Given the description of an element on the screen output the (x, y) to click on. 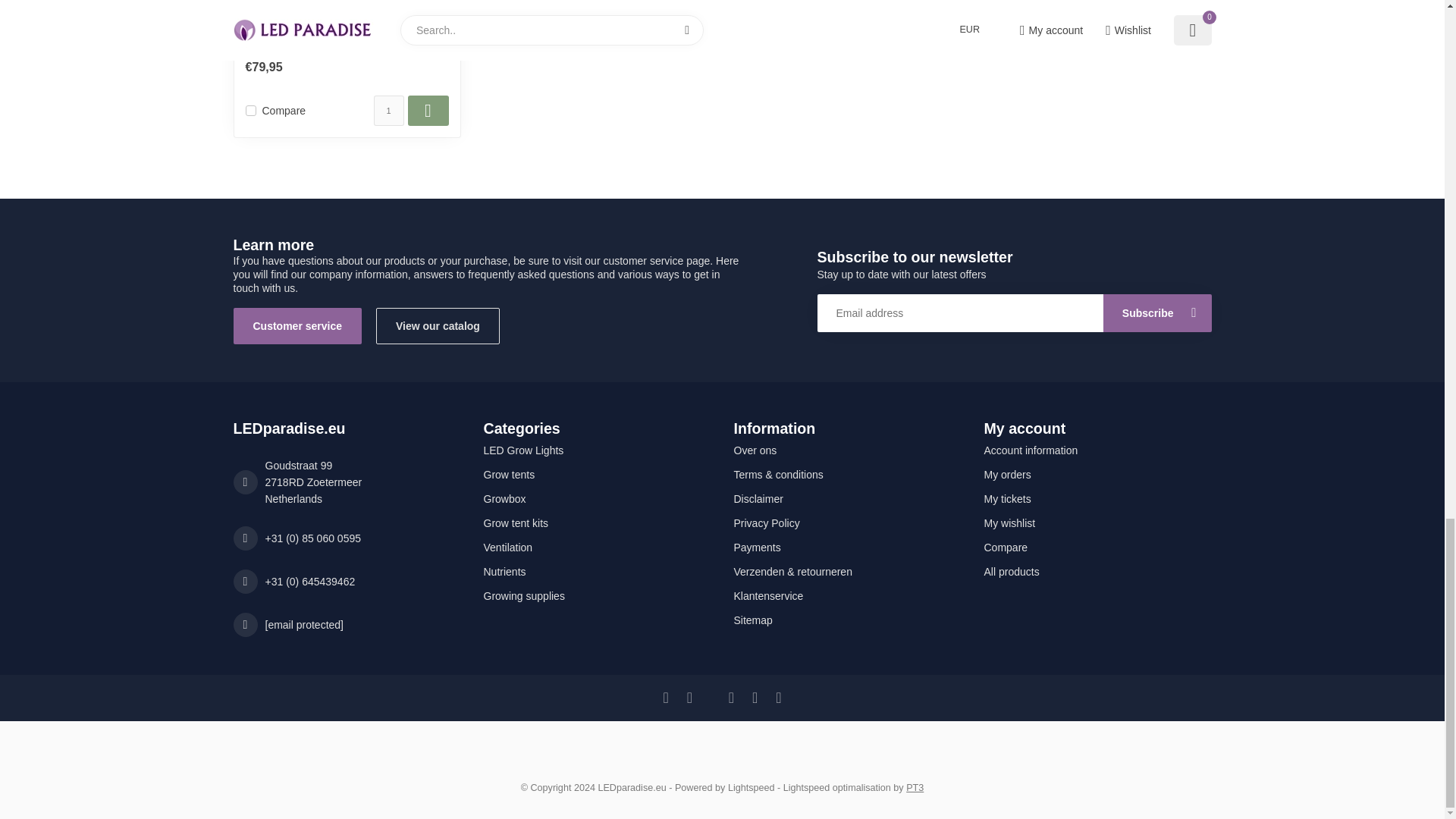
My tickets (1097, 498)
My orders (1097, 474)
Over ons (846, 450)
Klantenservice (846, 595)
Sitemap (846, 620)
1 (387, 110)
Compare (1097, 547)
Account information (1097, 450)
Payments (846, 547)
Disclaimer (846, 498)
